Given the description of an element on the screen output the (x, y) to click on. 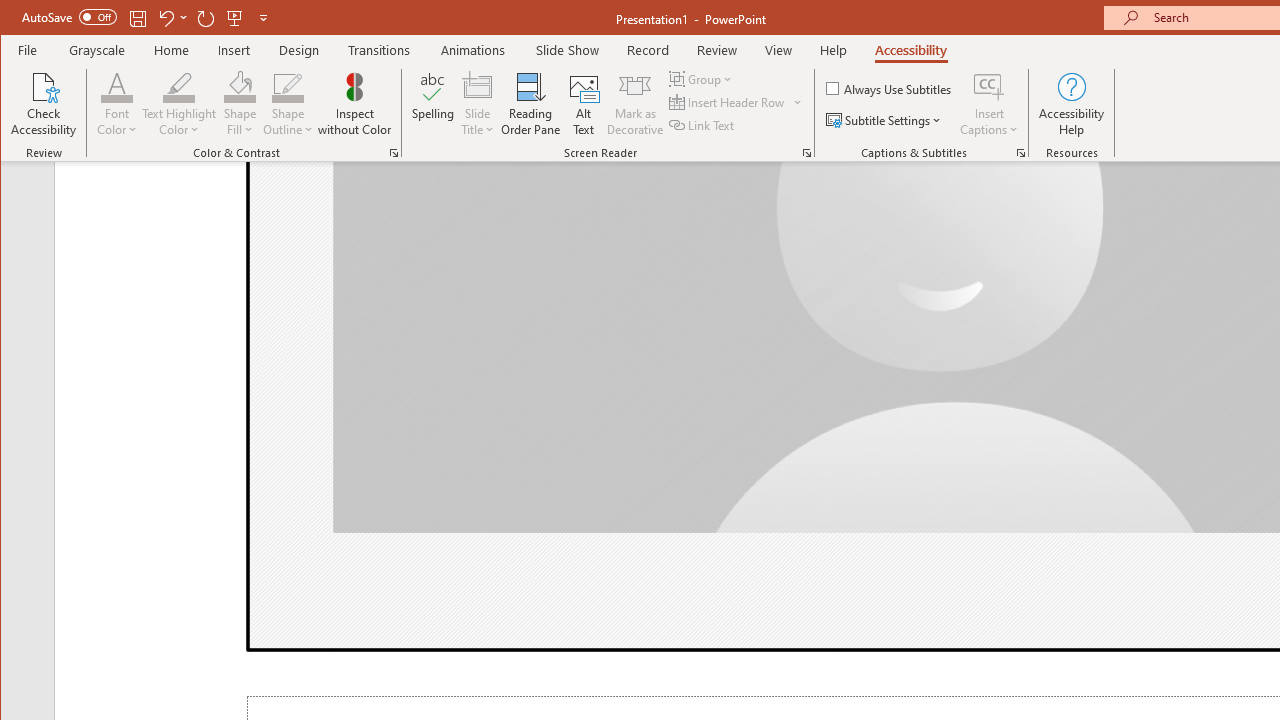
Captions & Subtitles (1020, 152)
